Given the description of an element on the screen output the (x, y) to click on. 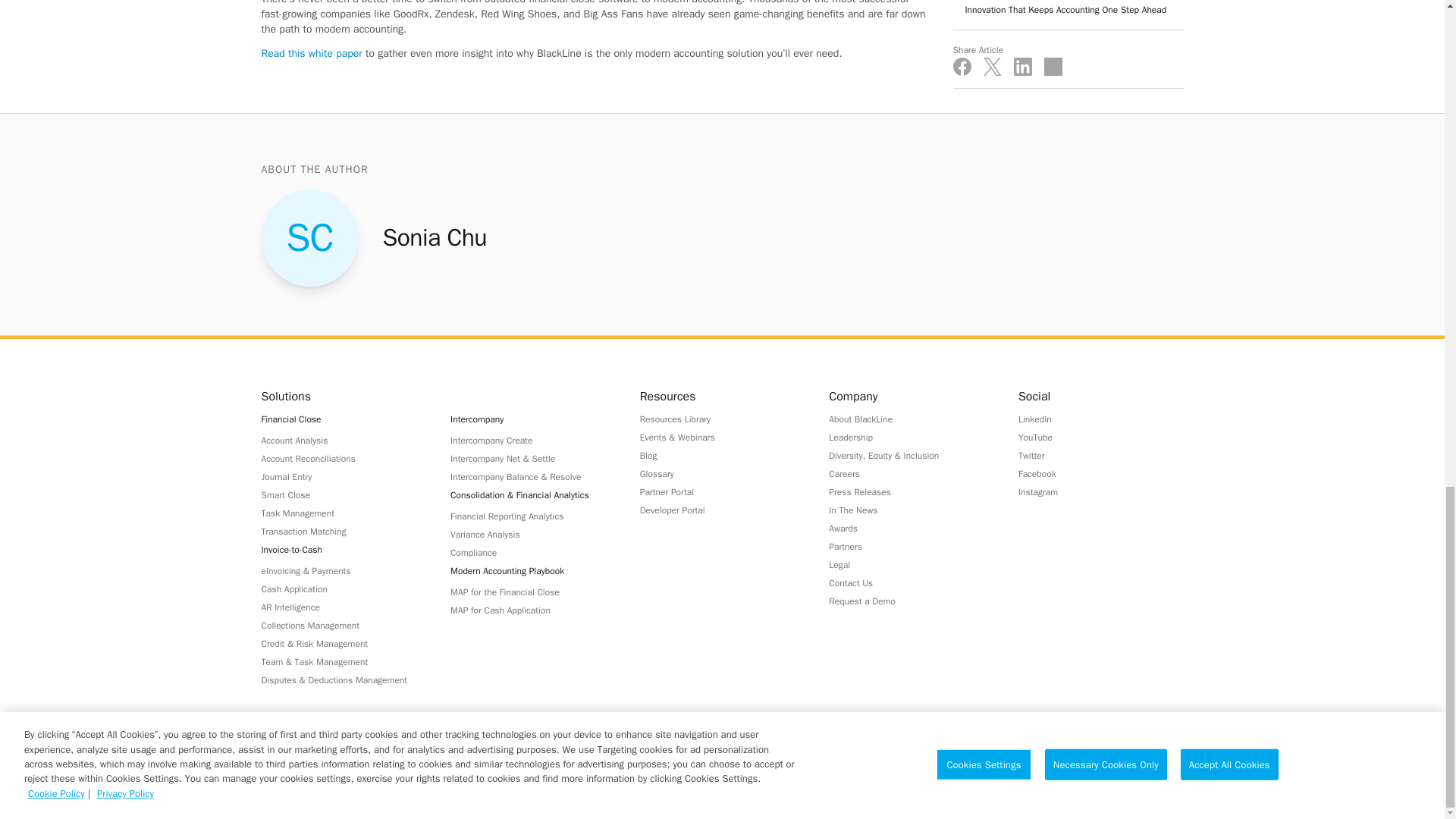
Journal Entry (343, 476)
Task Management (343, 513)
Cash Application (343, 589)
Account Reconciliations (343, 458)
Compliance (532, 552)
Financial Reporting Analytics (532, 516)
Intercompany Create (532, 440)
Collections Management (343, 625)
Transaction Matching (343, 531)
Account Analysis (343, 440)
